Given the description of an element on the screen output the (x, y) to click on. 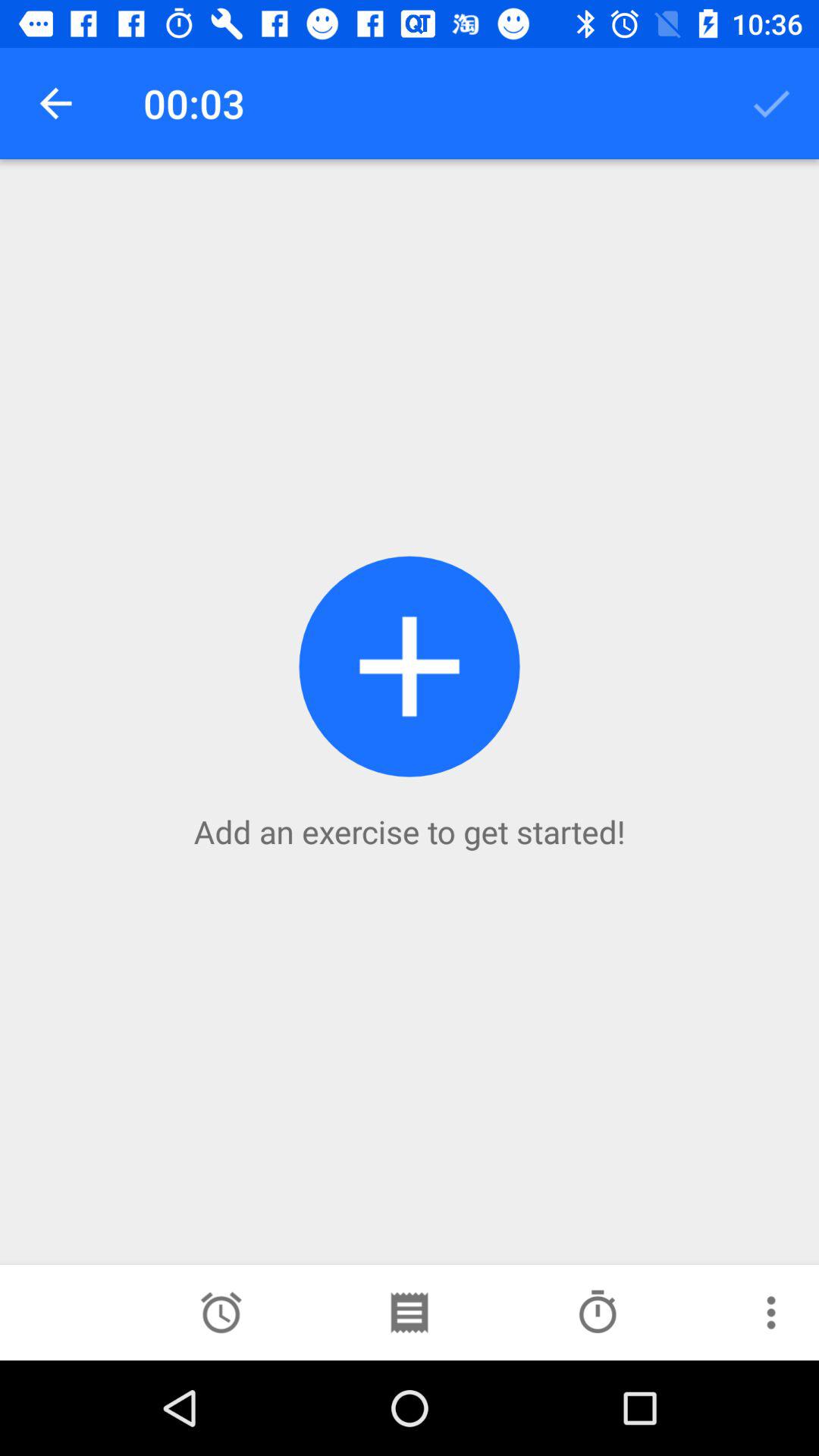
select the icon to the right of the 00:03 item (771, 103)
